Given the description of an element on the screen output the (x, y) to click on. 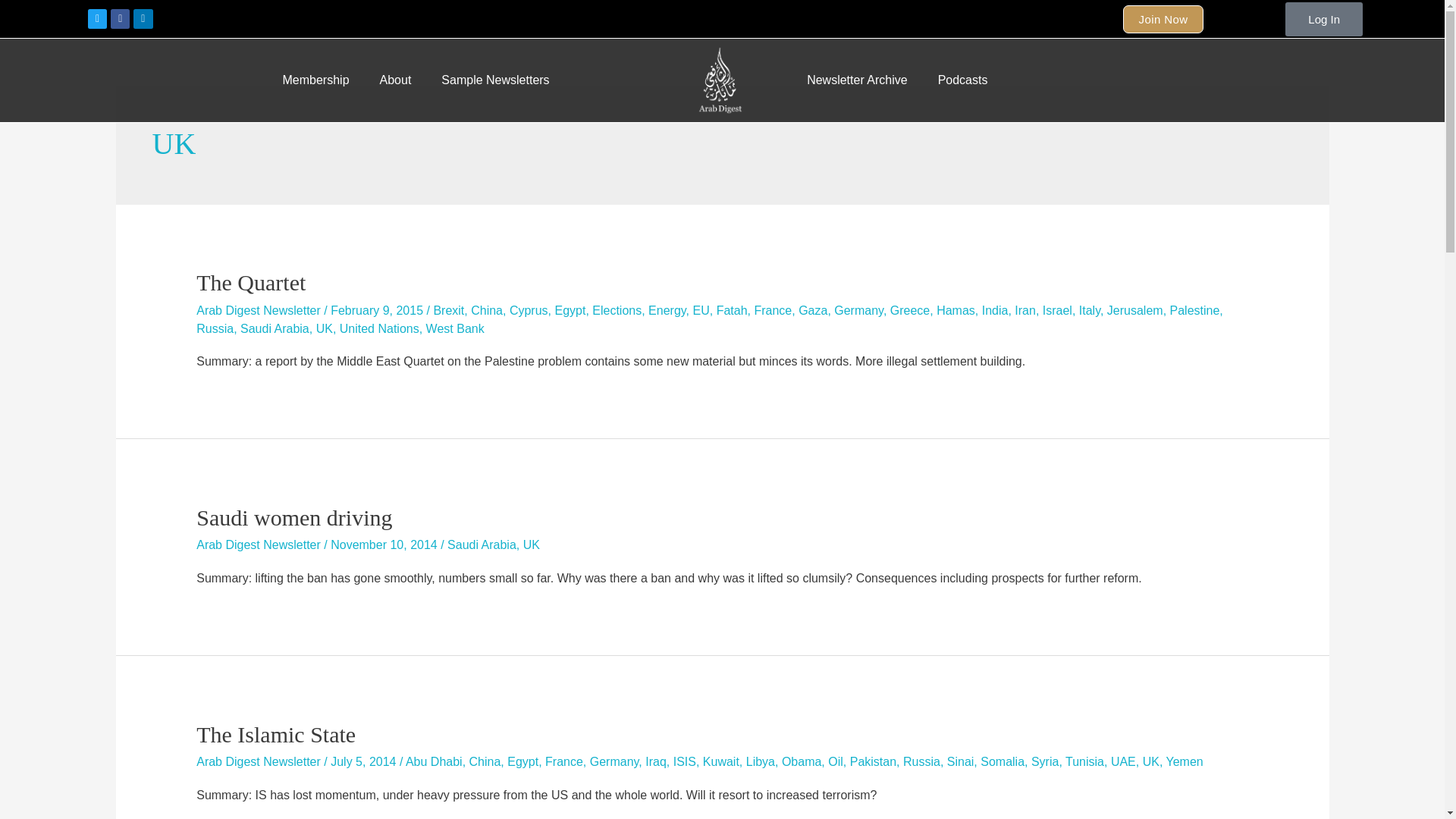
Energy (666, 309)
Brexit (448, 309)
China (486, 309)
The Quartet (250, 282)
Fatah (732, 309)
Sample Newsletters (495, 80)
Egypt (569, 309)
Elections (617, 309)
Germany (858, 309)
About (395, 80)
